Given the description of an element on the screen output the (x, y) to click on. 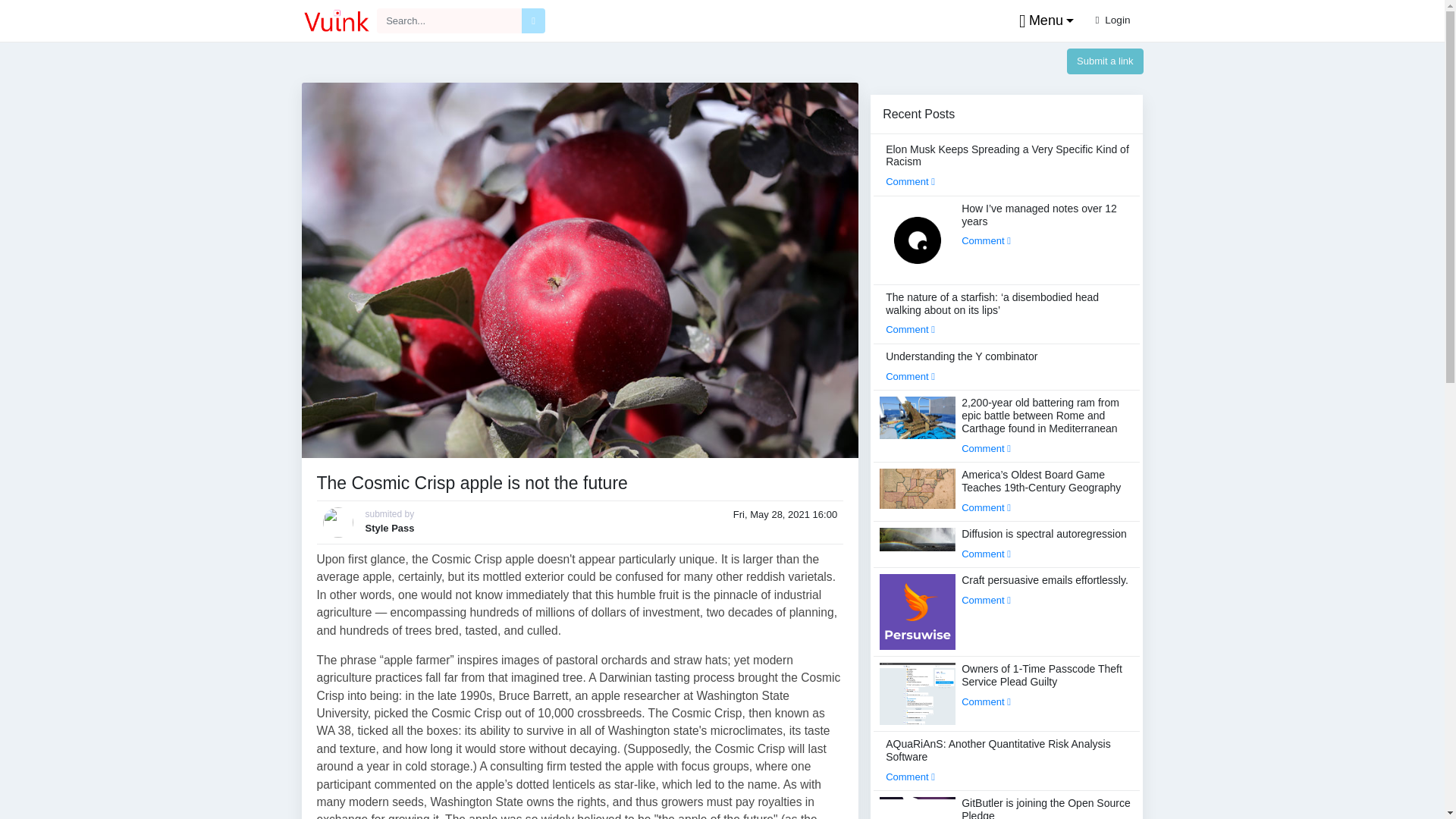
Submit a link (1104, 61)
Menu (1043, 20)
